Given the description of an element on the screen output the (x, y) to click on. 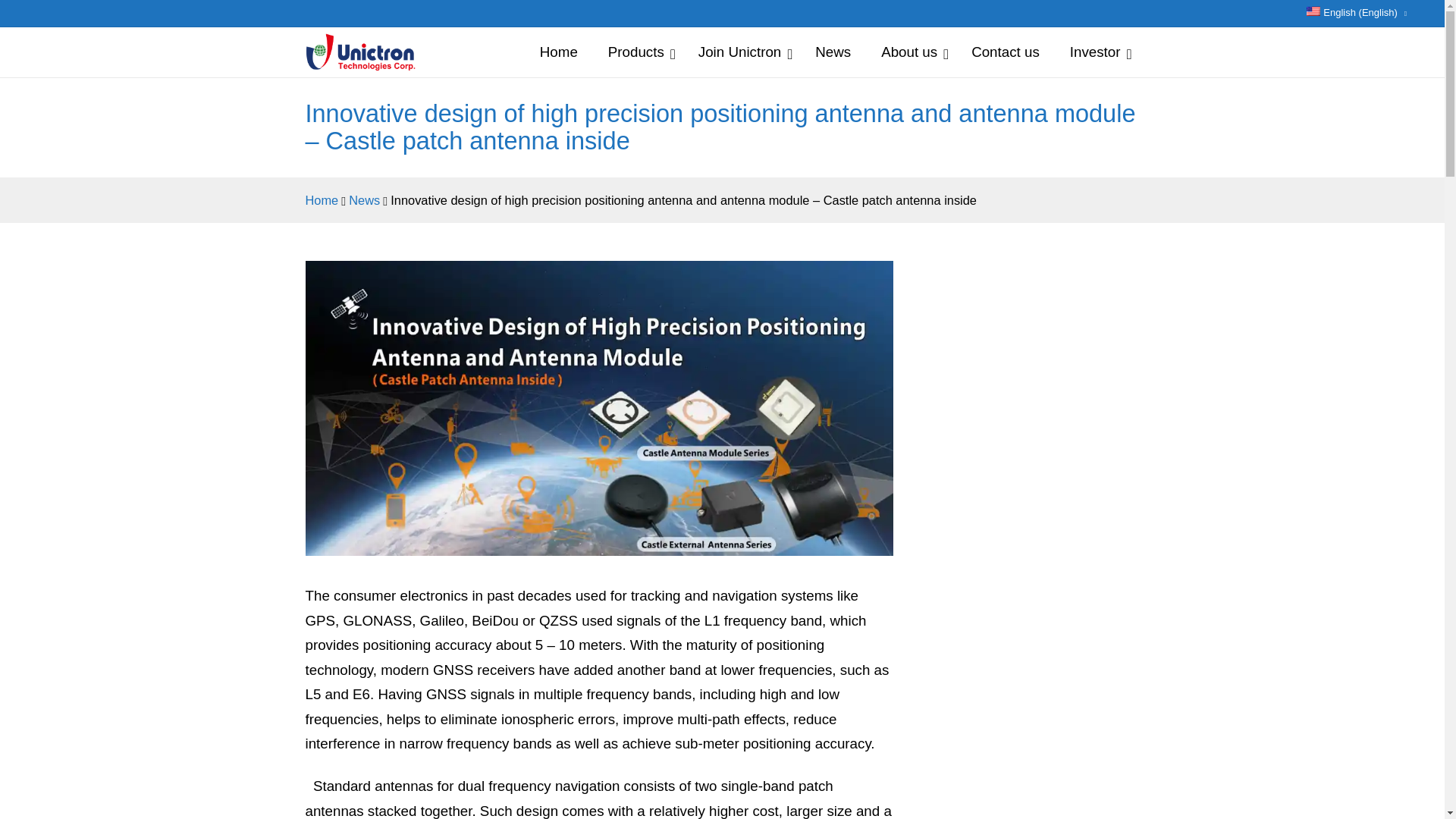
Investor (1097, 51)
Home (558, 51)
News (832, 51)
Join Unictron (740, 51)
Contact us (1005, 51)
Home (320, 199)
About us (911, 51)
Products (637, 51)
English (1356, 13)
News (364, 199)
